Given the description of an element on the screen output the (x, y) to click on. 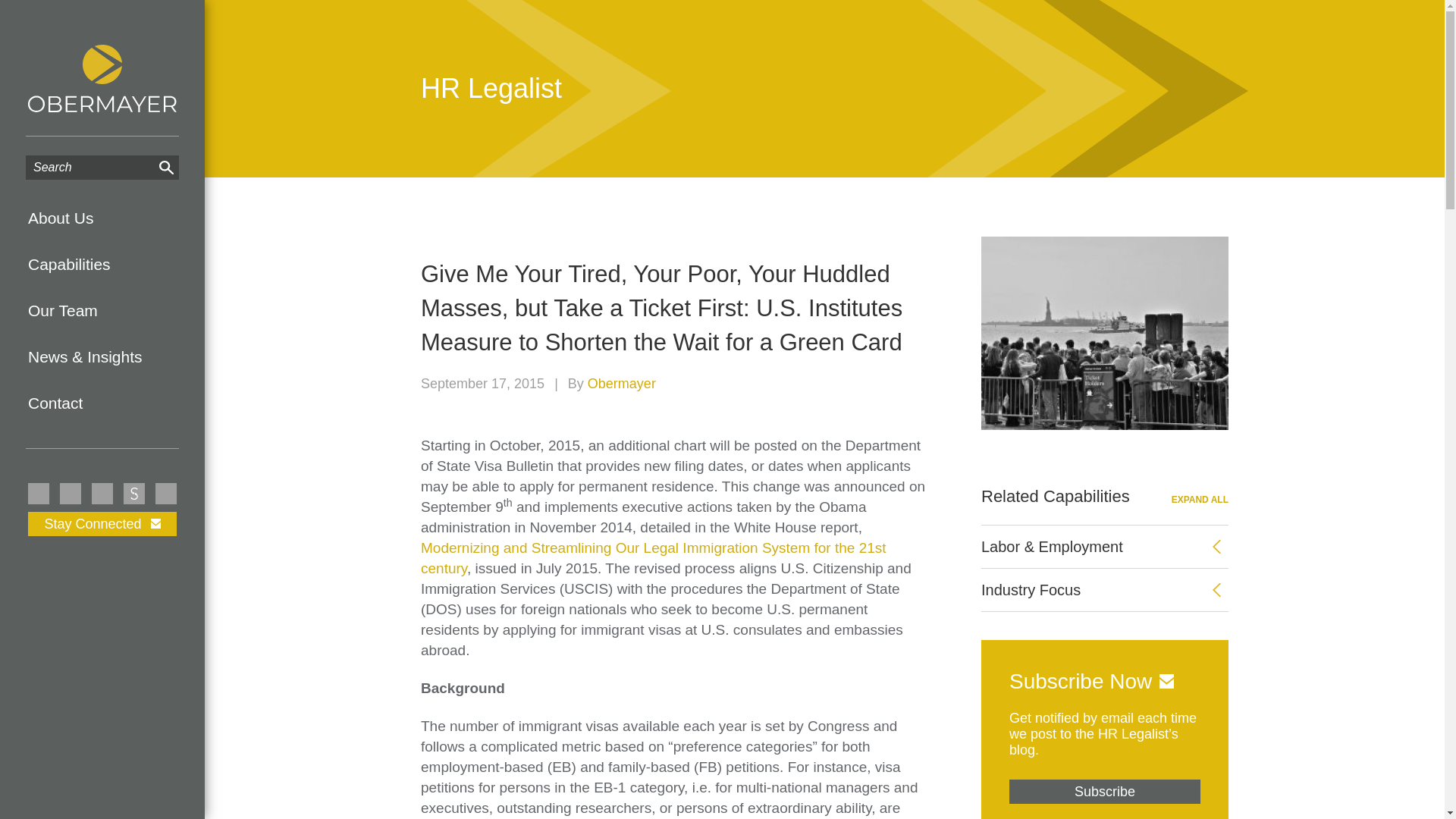
About Us (102, 217)
Capabilities (102, 264)
Posts by Obermayer (622, 383)
